Given the description of an element on the screen output the (x, y) to click on. 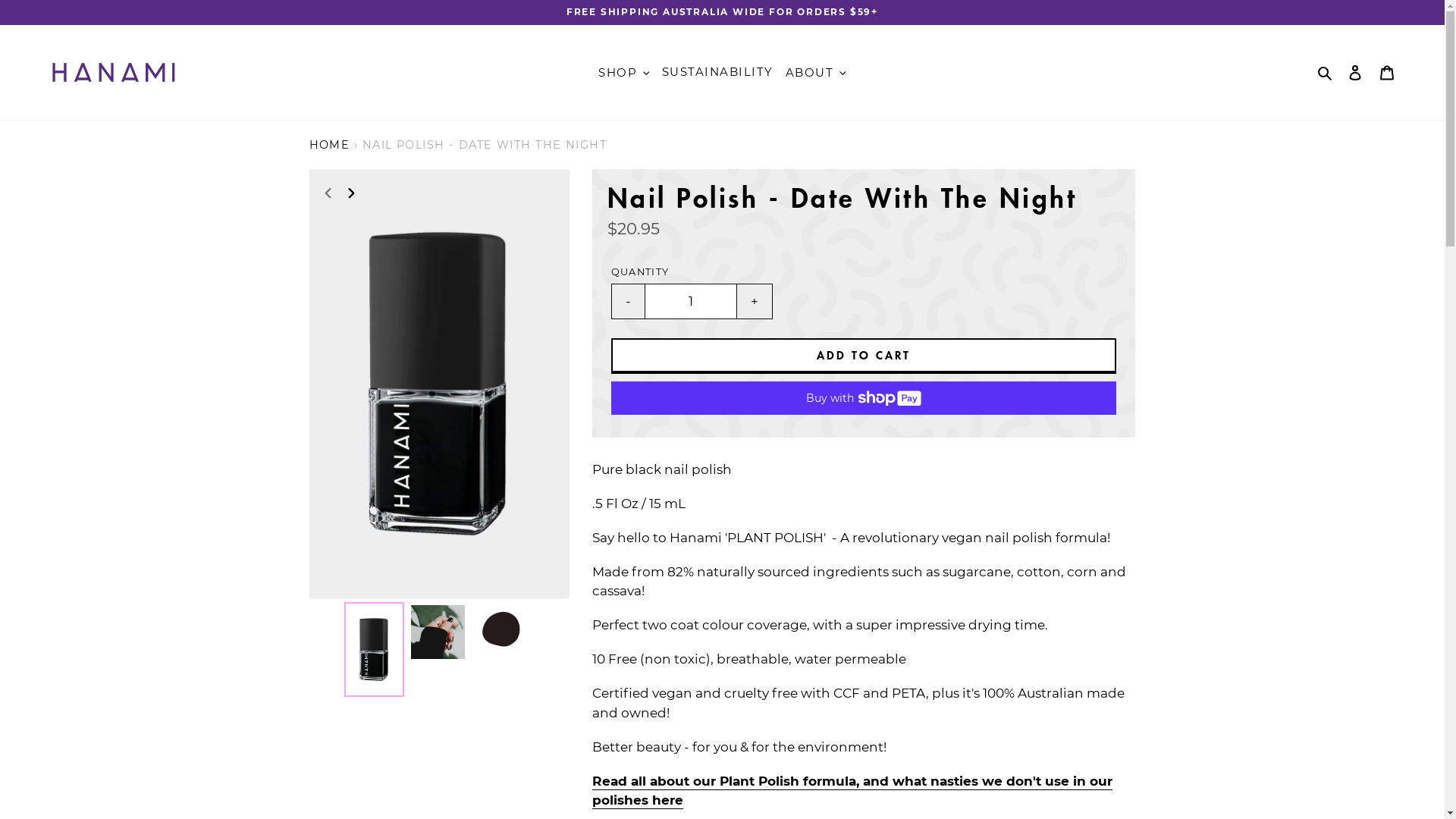
PREVIOUS SLIDE Element type: text (328, 191)
SHOP Element type: text (617, 72)
Log in Element type: text (1355, 72)
- Element type: text (628, 301)
Search Element type: text (1325, 72)
ADD TO CART Element type: text (864, 355)
ABOUT Element type: text (815, 72)
SUSTAINABILITY Element type: text (717, 72)
Cart Element type: text (1386, 72)
ABOUT Element type: text (809, 72)
HOME Element type: text (329, 144)
+ Element type: text (754, 301)
SHOP Element type: text (623, 72)
NEXT SLIDE Element type: text (456, 191)
